Given the description of an element on the screen output the (x, y) to click on. 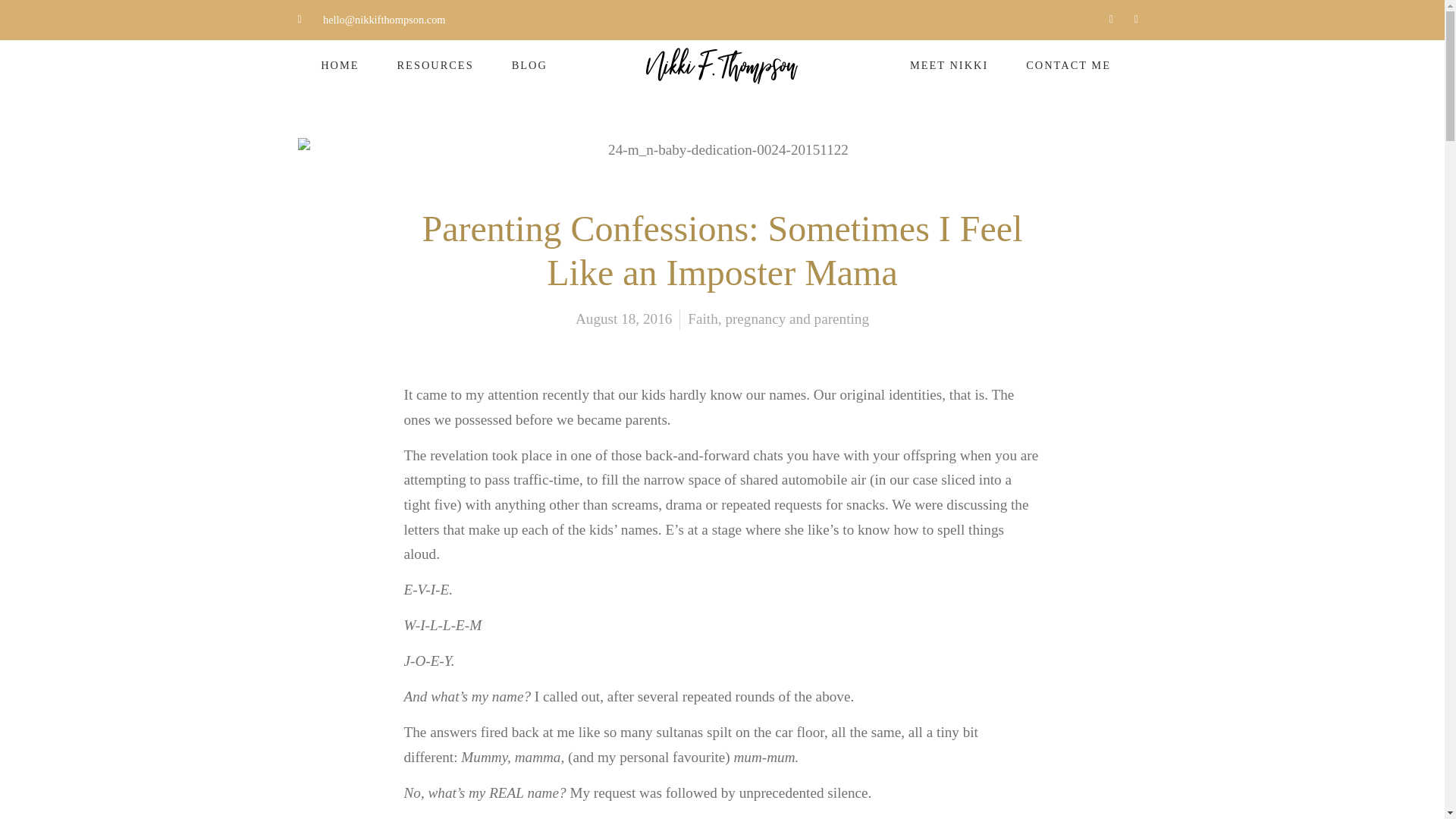
August 18, 2016 (623, 319)
Faith (702, 318)
MEET NIKKI (949, 64)
RESOURCES (434, 64)
pregnancy and parenting (797, 318)
CONTACT ME (1068, 64)
HOME (339, 64)
BLOG (529, 64)
